Given the description of an element on the screen output the (x, y) to click on. 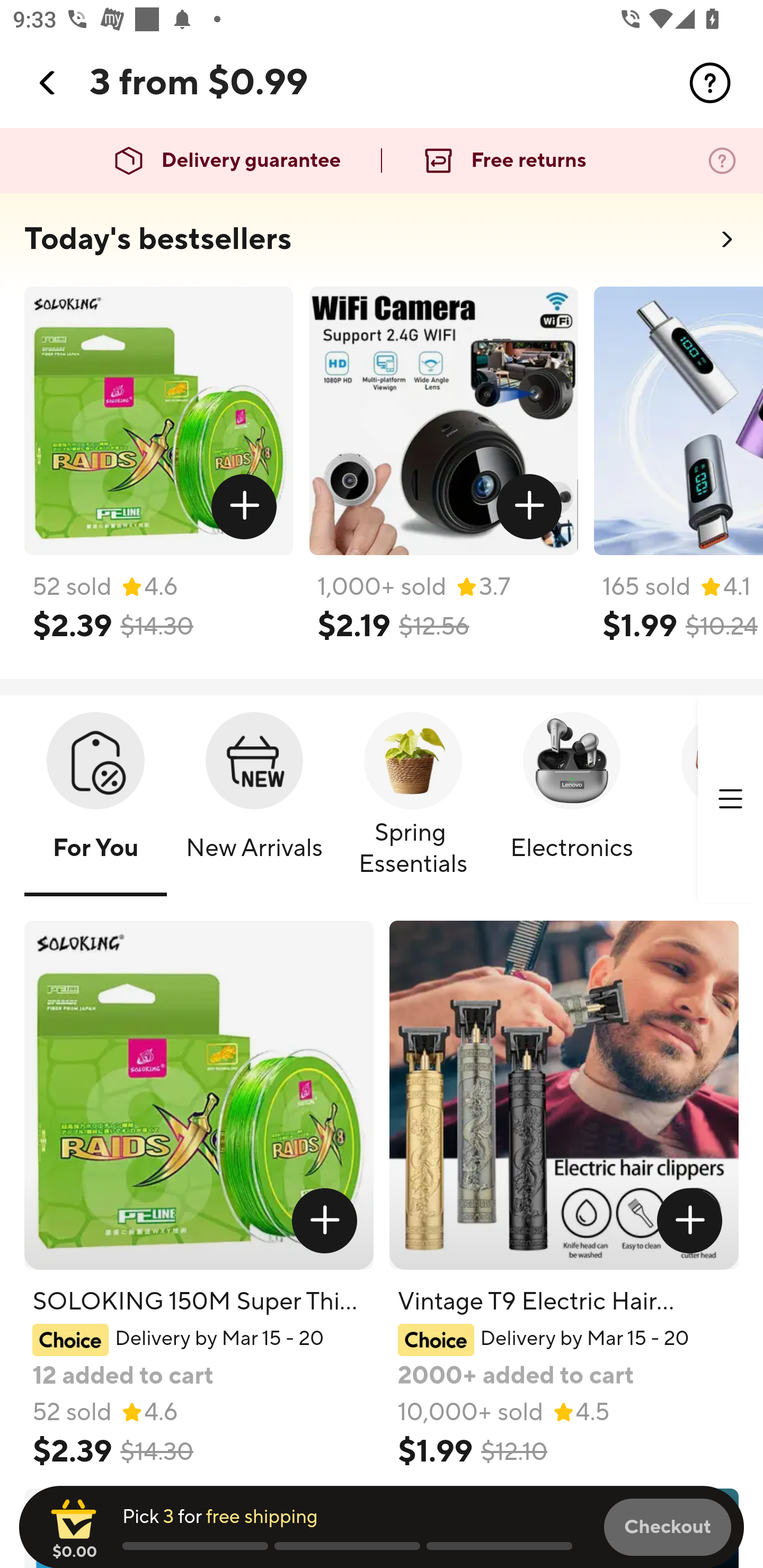
 (710, 82)
 (48, 82)
Today's bestsellers  Today's bestsellers  (381, 244)
Today's bestsellers (157, 239)
 (244, 506)
 (529, 506)
 (730, 799)
144x144.png_ For You (95, 800)
144x144.png_ New Arrivals (254, 800)
200x200.png_ Spring Essentials (412, 800)
300x300.png_ Electronics (571, 800)
 (323, 1220)
 (689, 1220)
